Given the description of an element on the screen output the (x, y) to click on. 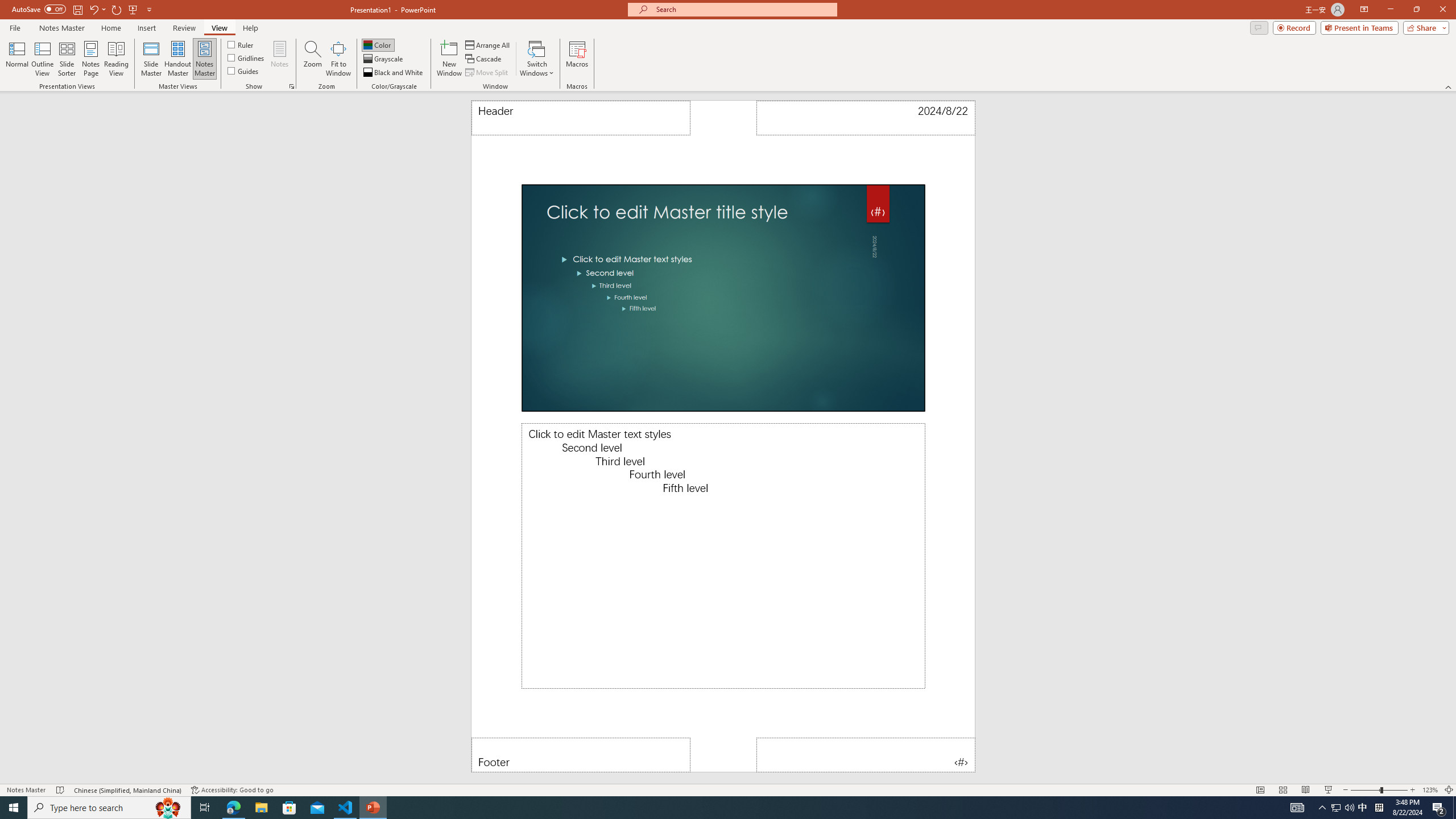
Fit to Window (338, 58)
Notes (279, 58)
Outline View (42, 58)
Notes Master (204, 58)
Arrange All (488, 44)
Ruler (241, 44)
Cascade (484, 58)
